Given the description of an element on the screen output the (x, y) to click on. 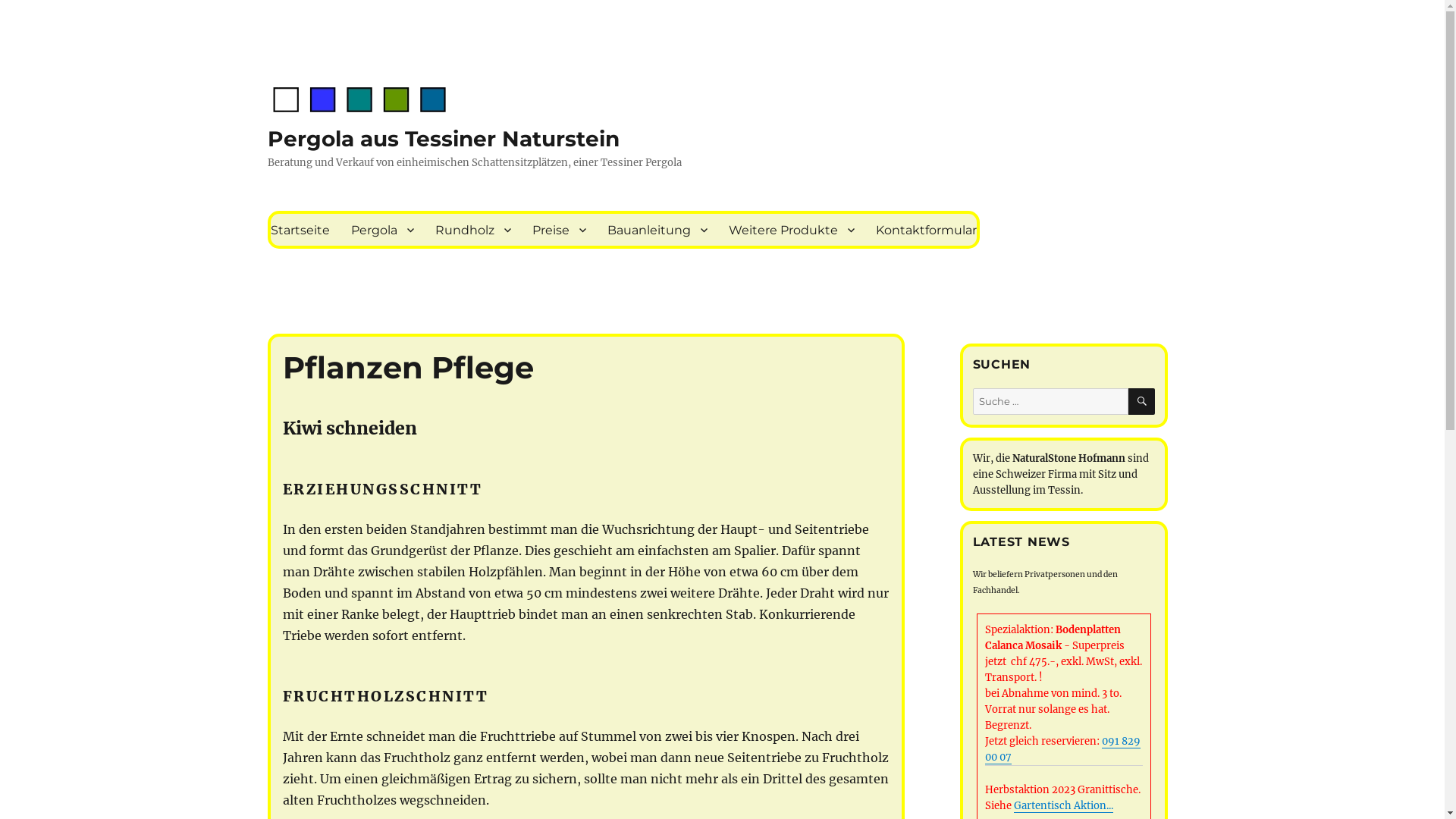
Pergola aus Tessiner Naturstein Element type: text (442, 138)
Kontaktformular Element type: text (925, 229)
SUCHEN Element type: text (1141, 401)
Weitere Produkte Element type: text (790, 229)
Preise Element type: text (558, 229)
Gartentisch Aktion... Element type: text (1062, 805)
Pergola Element type: text (381, 229)
Startseite Element type: text (299, 229)
Bauanleitung Element type: text (656, 229)
Rundholz Element type: text (472, 229)
091 829 00 07 Element type: text (1061, 748)
